Given the description of an element on the screen output the (x, y) to click on. 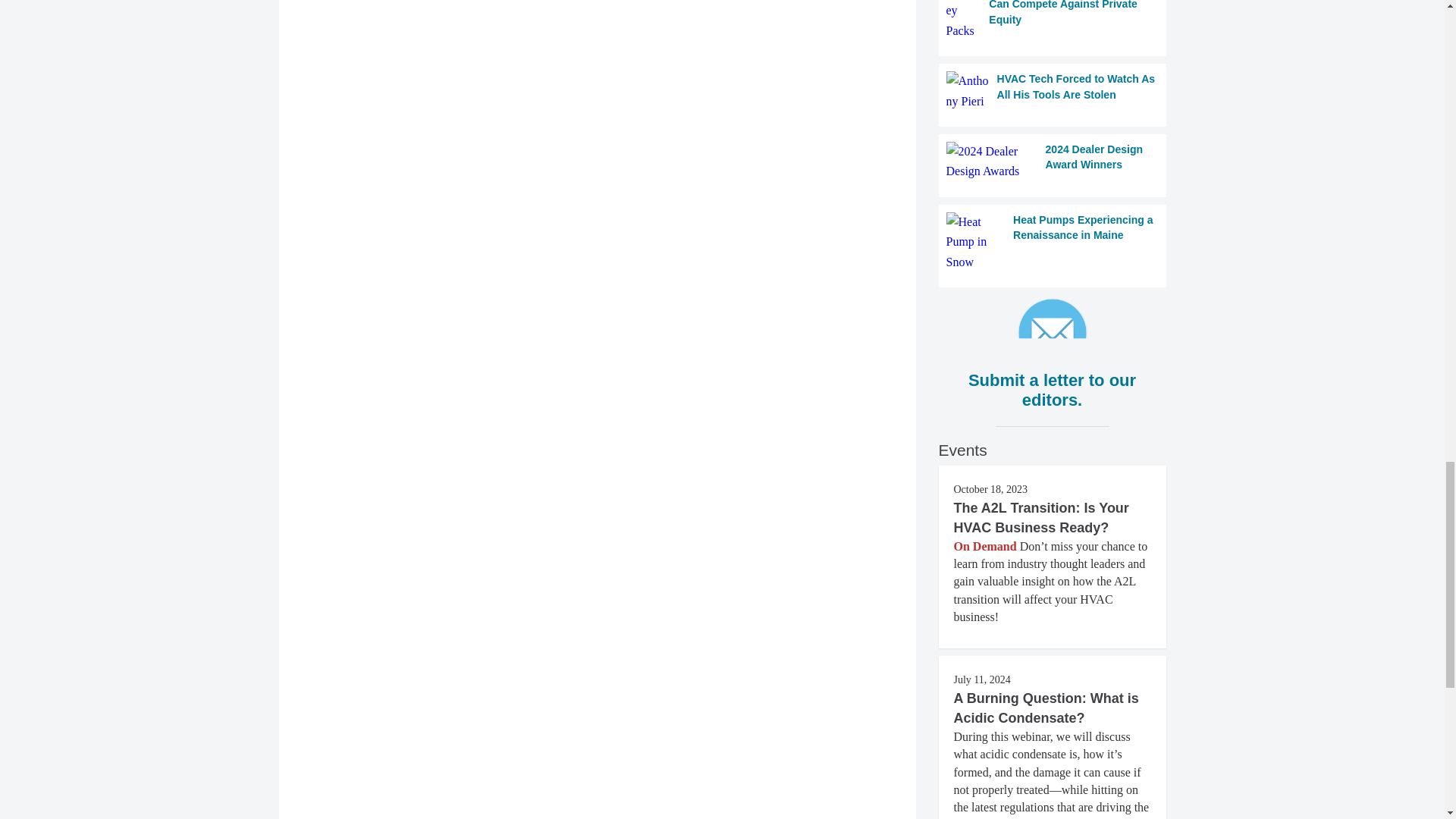
The A2L Transition: Is Your HVAC Business Ready? (1041, 517)
A Burning Question: What is Acidic Condensate? (1045, 708)
2024 Dealer Design Award Winners (1052, 161)
Heat Pumps Experiencing a Renaissance in Maine (1052, 241)
HVAC Tech Forced to Watch As All His Tools Are Stolen (1052, 91)
